Given the description of an element on the screen output the (x, y) to click on. 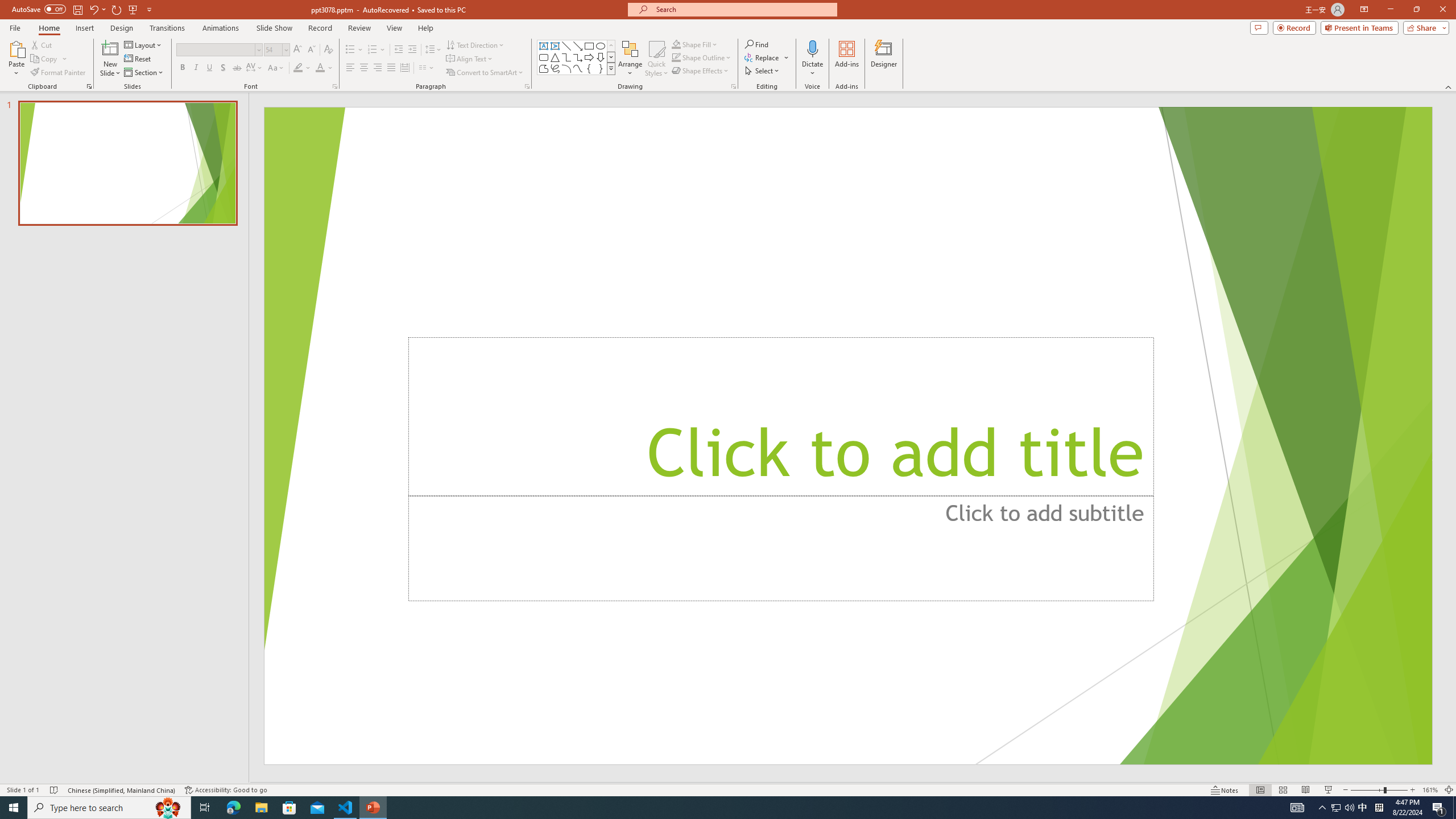
Accessibility Checker Accessibility: Good to go (226, 790)
